Given the description of an element on the screen output the (x, y) to click on. 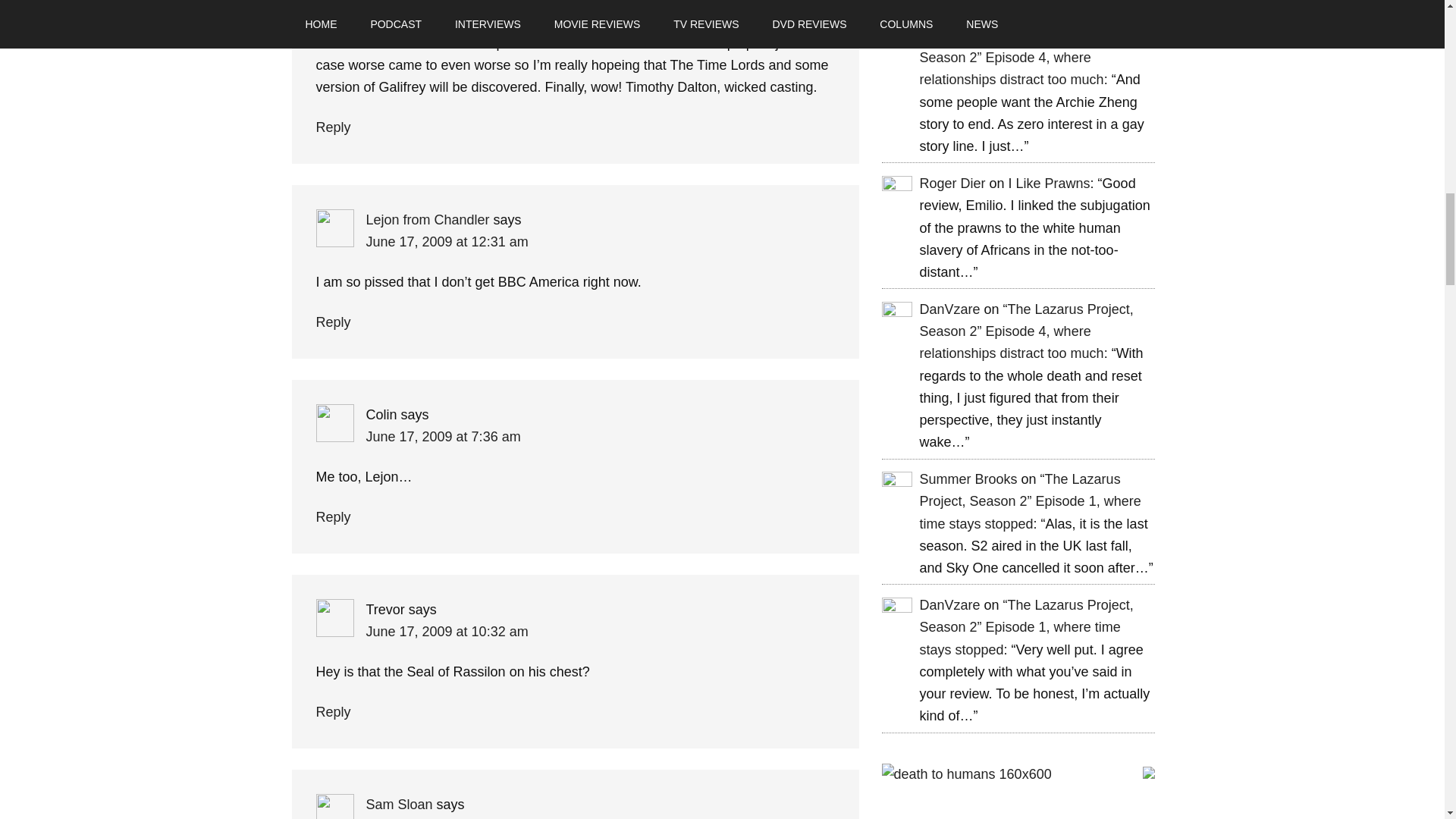
Reply (332, 322)
June 17, 2009 at 12:31 am (446, 241)
Reply (332, 127)
Lejon from Chandler (427, 219)
